Given the description of an element on the screen output the (x, y) to click on. 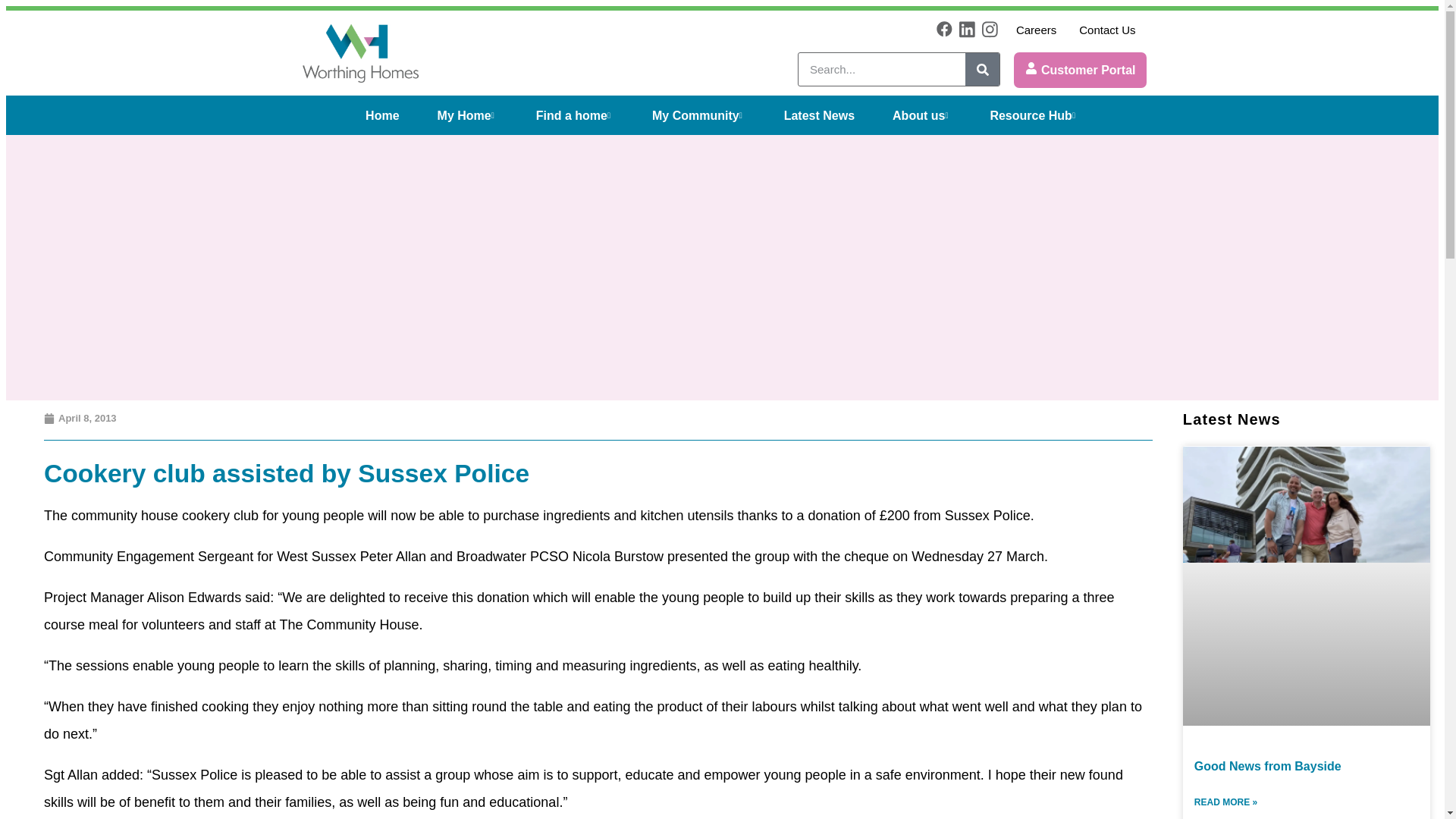
Home (381, 115)
My Home (467, 115)
Customer Portal (1080, 69)
Careers (1035, 29)
My Community (699, 115)
Find a home (574, 115)
Contact Us (1107, 29)
